Given the description of an element on the screen output the (x, y) to click on. 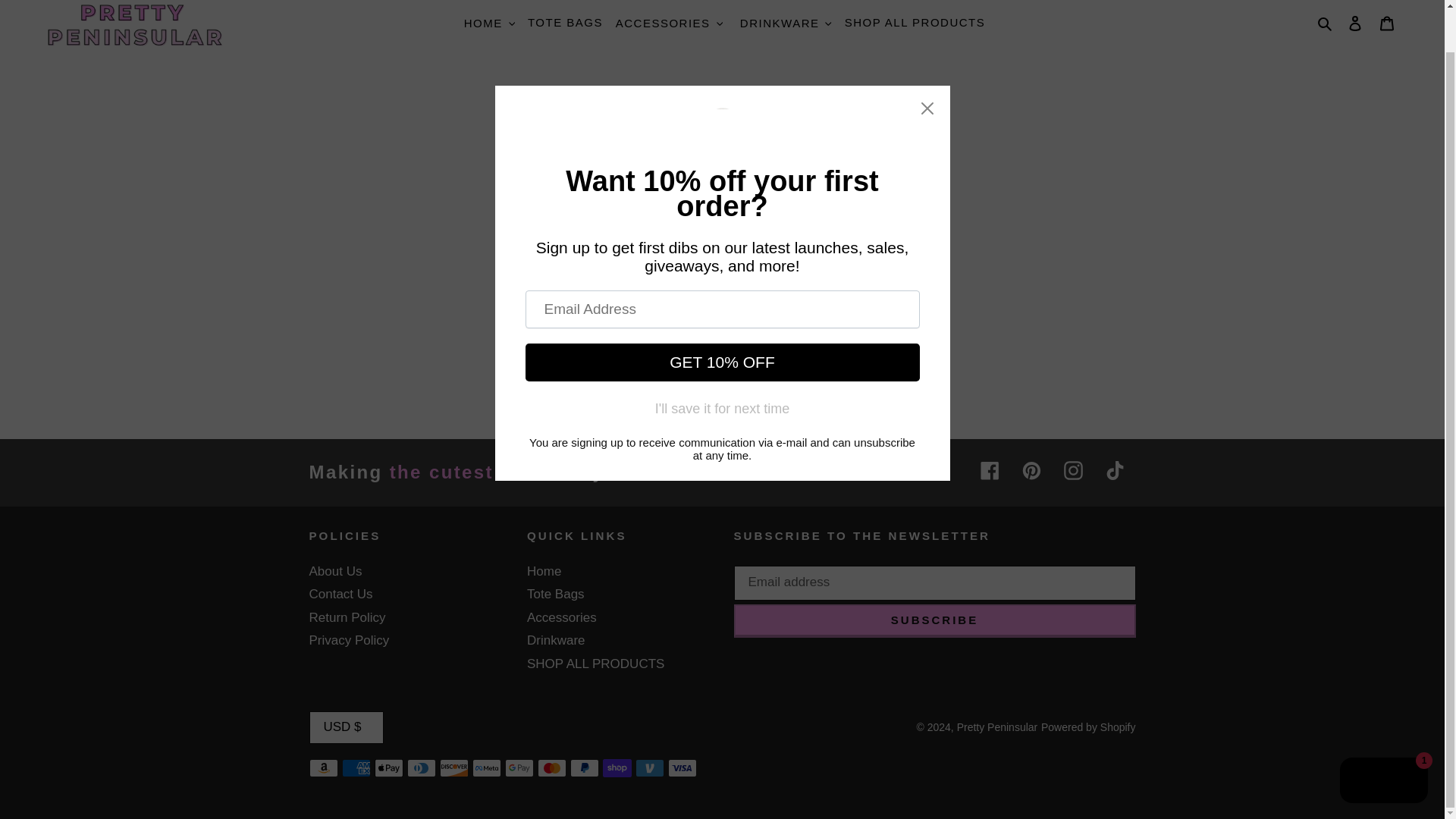
Cart (1387, 22)
SHOP ALL PRODUCTS (914, 22)
Shopify online store chat (1383, 737)
ACCESSORIES (662, 23)
HOME (489, 23)
Search (1326, 23)
DRINKWARE (785, 23)
HOME (483, 23)
TOTE BAGS (564, 22)
DRINKWARE (779, 23)
ACCESSORIES (668, 23)
Log in (1355, 22)
